Given the description of an element on the screen output the (x, y) to click on. 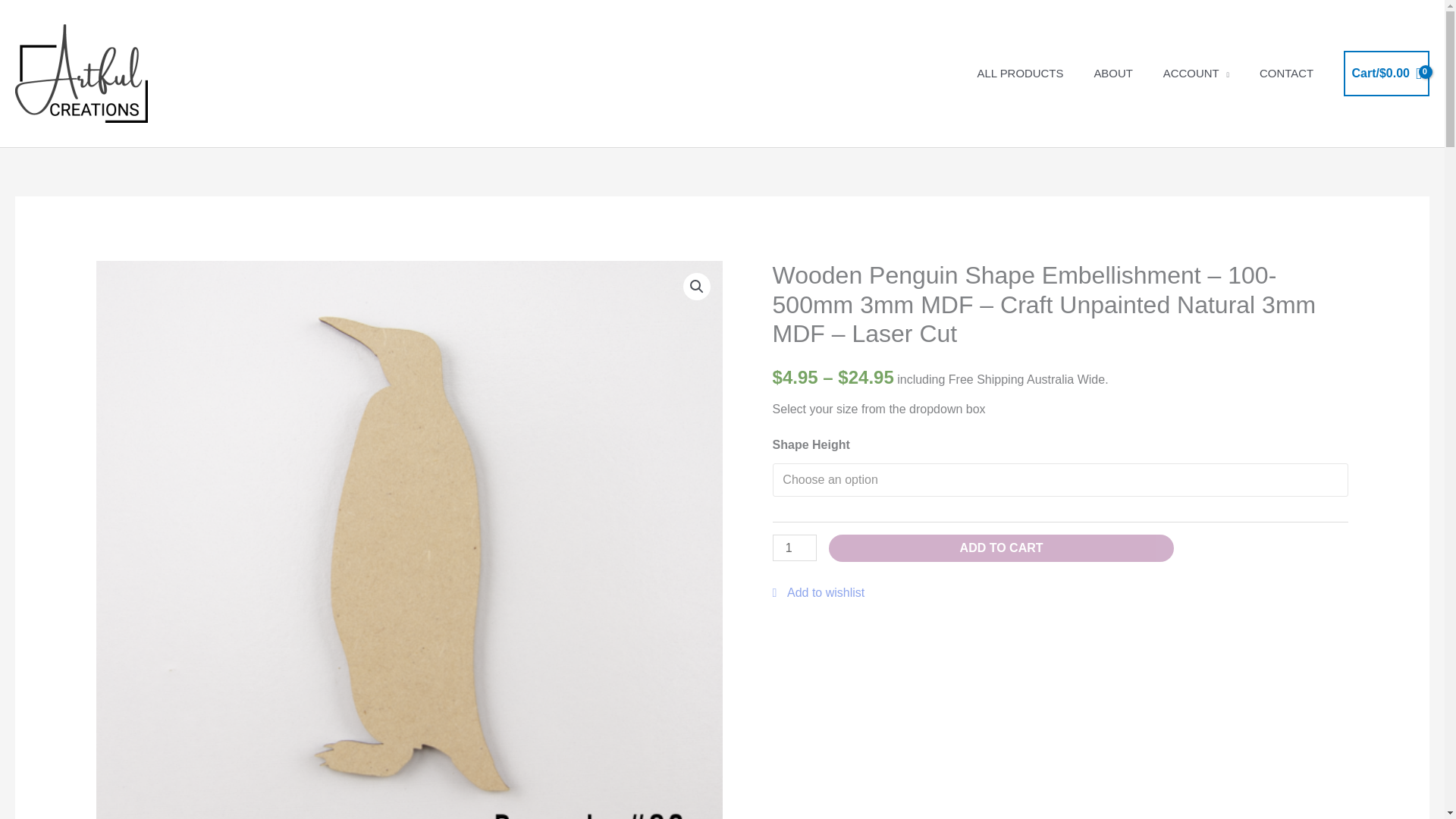
ALL PRODUCTS (1020, 72)
Add to wishlist (818, 592)
ACCOUNT (1196, 72)
ABOUT (1112, 72)
1 (794, 547)
ADD TO CART (1001, 547)
CONTACT (1285, 72)
